Given the description of an element on the screen output the (x, y) to click on. 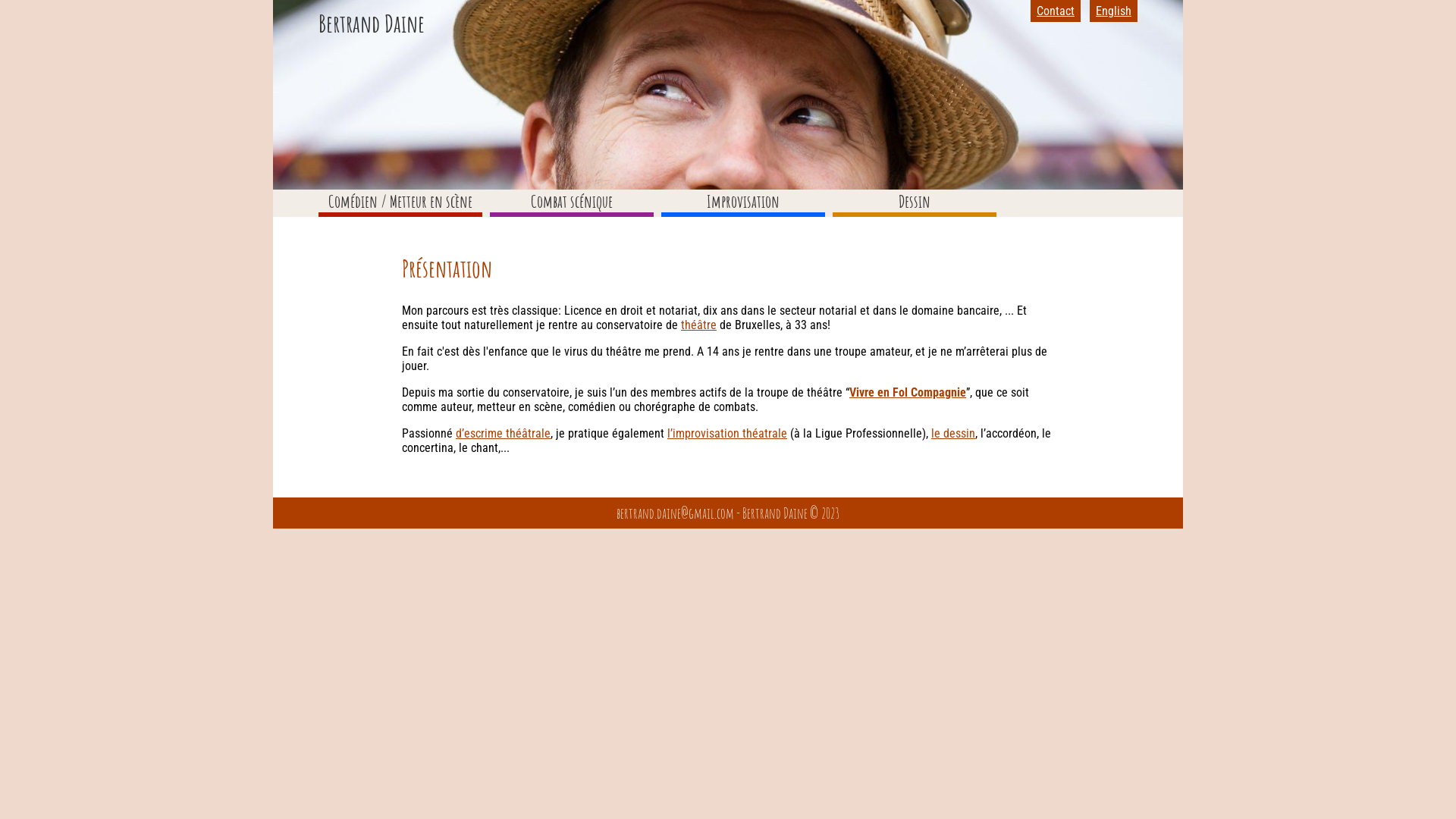
Aller au contenu principal Element type: text (0, 0)
Bertrand Daine Element type: text (371, 22)
le dessin Element type: text (953, 433)
Vivre en Fol Compagnie Element type: text (907, 392)
Dessin Element type: text (914, 200)
Contact Element type: text (1055, 10)
English Element type: text (1113, 10)
Improvisation Element type: text (743, 200)
